Given the description of an element on the screen output the (x, y) to click on. 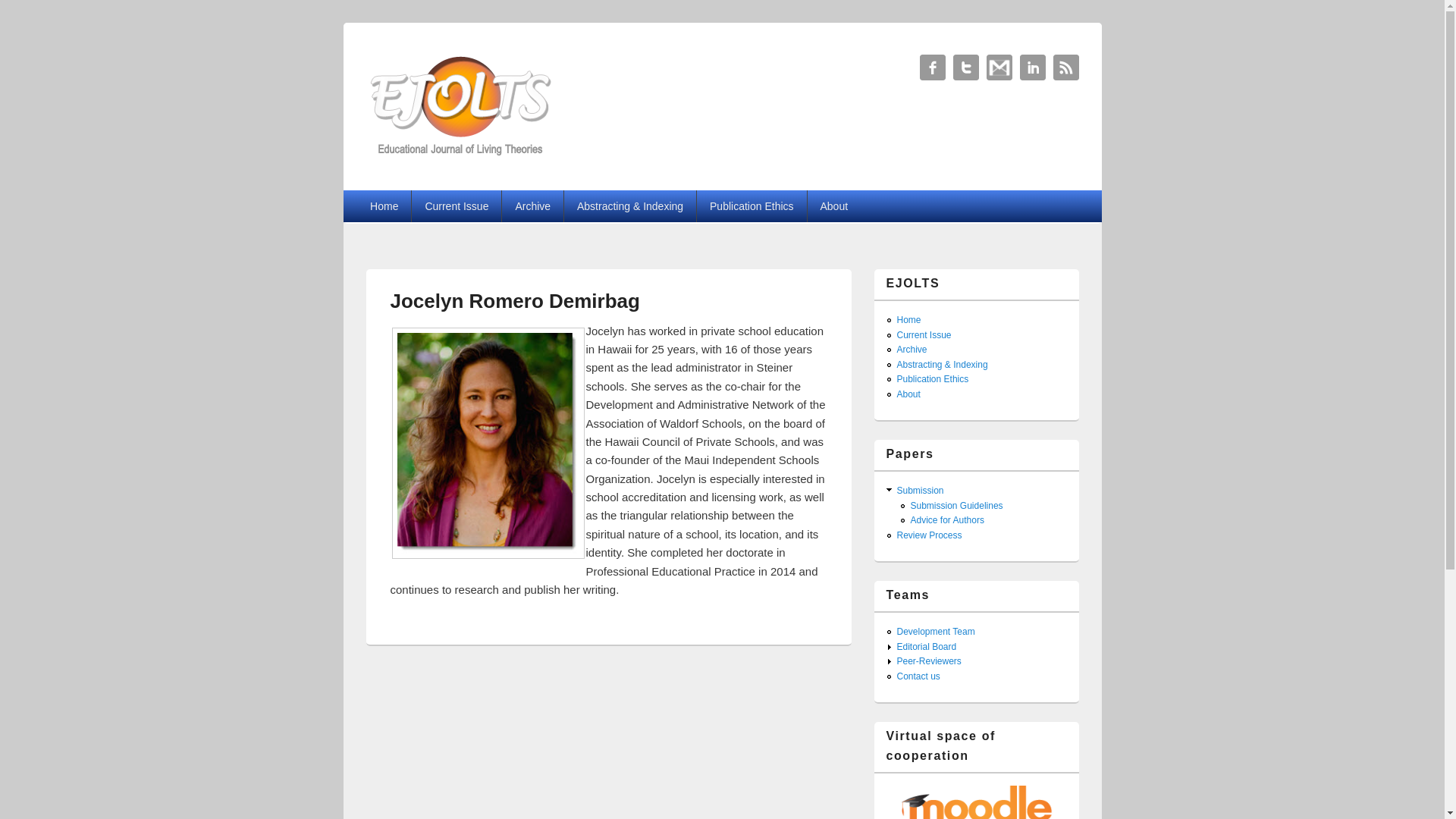
Development Team (935, 631)
Educational Journal of Living Theories Twitter (1032, 67)
Current Issue (456, 205)
About (908, 394)
Current Issue (923, 335)
Advice for Authors (947, 520)
Educational Journal of Living Theories Facebook (931, 67)
Contact us (917, 675)
Home (908, 319)
Educational Journal of Living Theories in RSS (1065, 67)
